Given the description of an element on the screen output the (x, y) to click on. 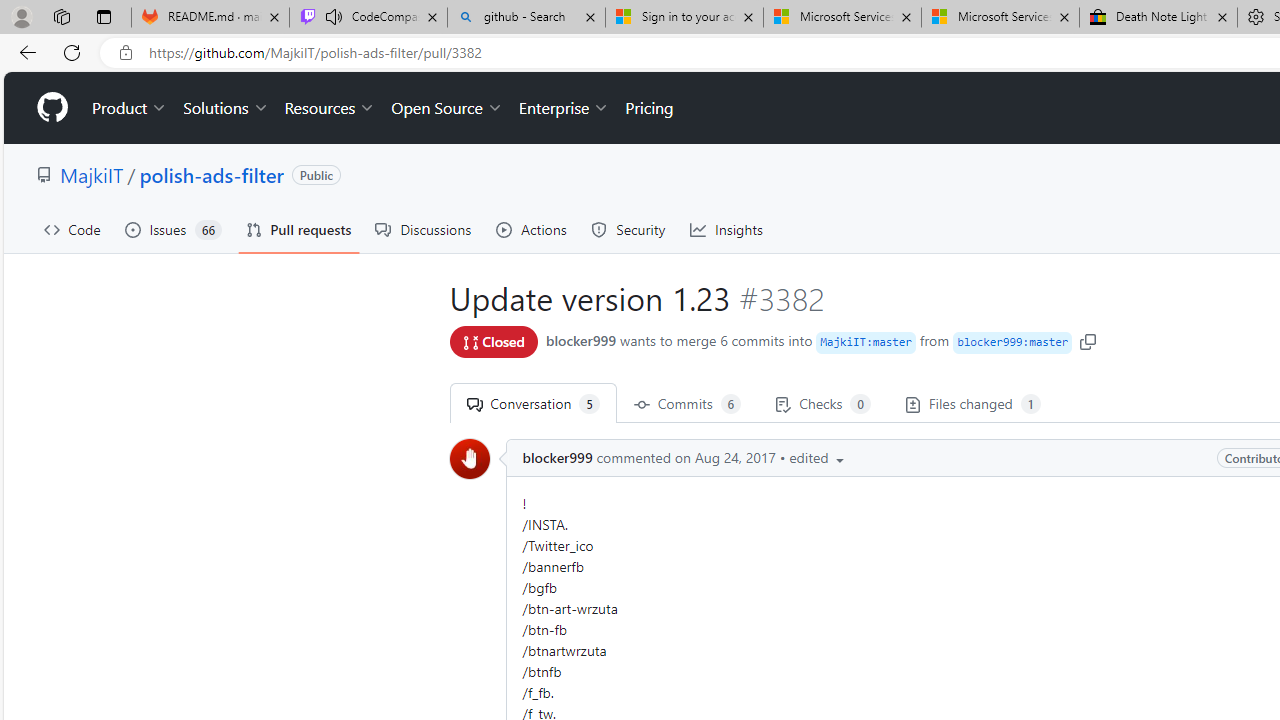
 Checks 0 (822, 403)
blocker999 (557, 457)
Code (71, 229)
Sign in to your account (683, 17)
Copy (1088, 340)
blocker999 (469, 458)
Discussions (424, 229)
Open Source (446, 107)
Insights (726, 229)
Actions (531, 229)
 Conversation 5 (532, 403)
